Given the description of an element on the screen output the (x, y) to click on. 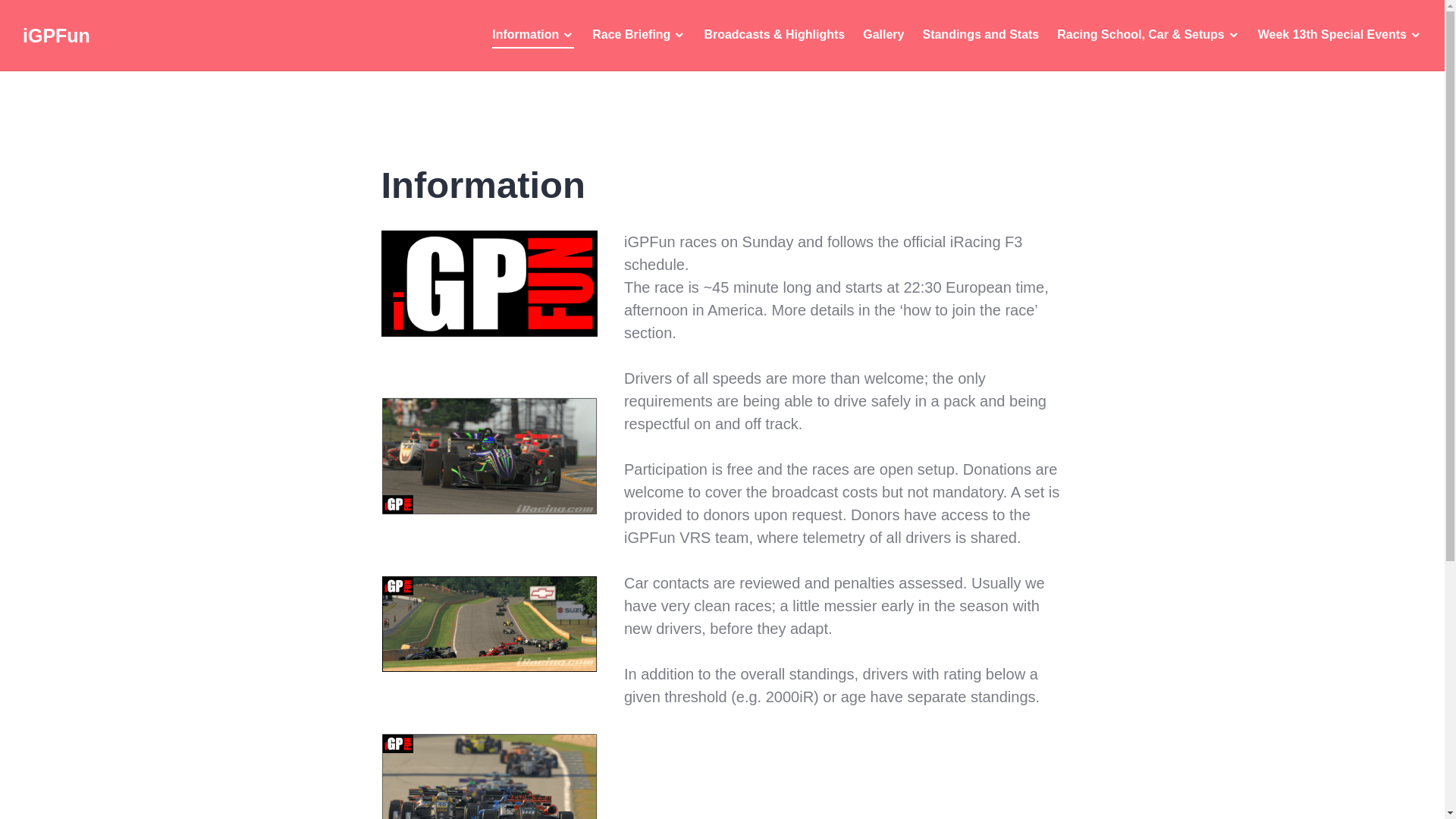
Race Briefing (638, 35)
Week 13th Special Events (1339, 35)
iGPFun (56, 35)
Information (532, 35)
Gallery (883, 35)
Standings and Stats (980, 35)
